Given the description of an element on the screen output the (x, y) to click on. 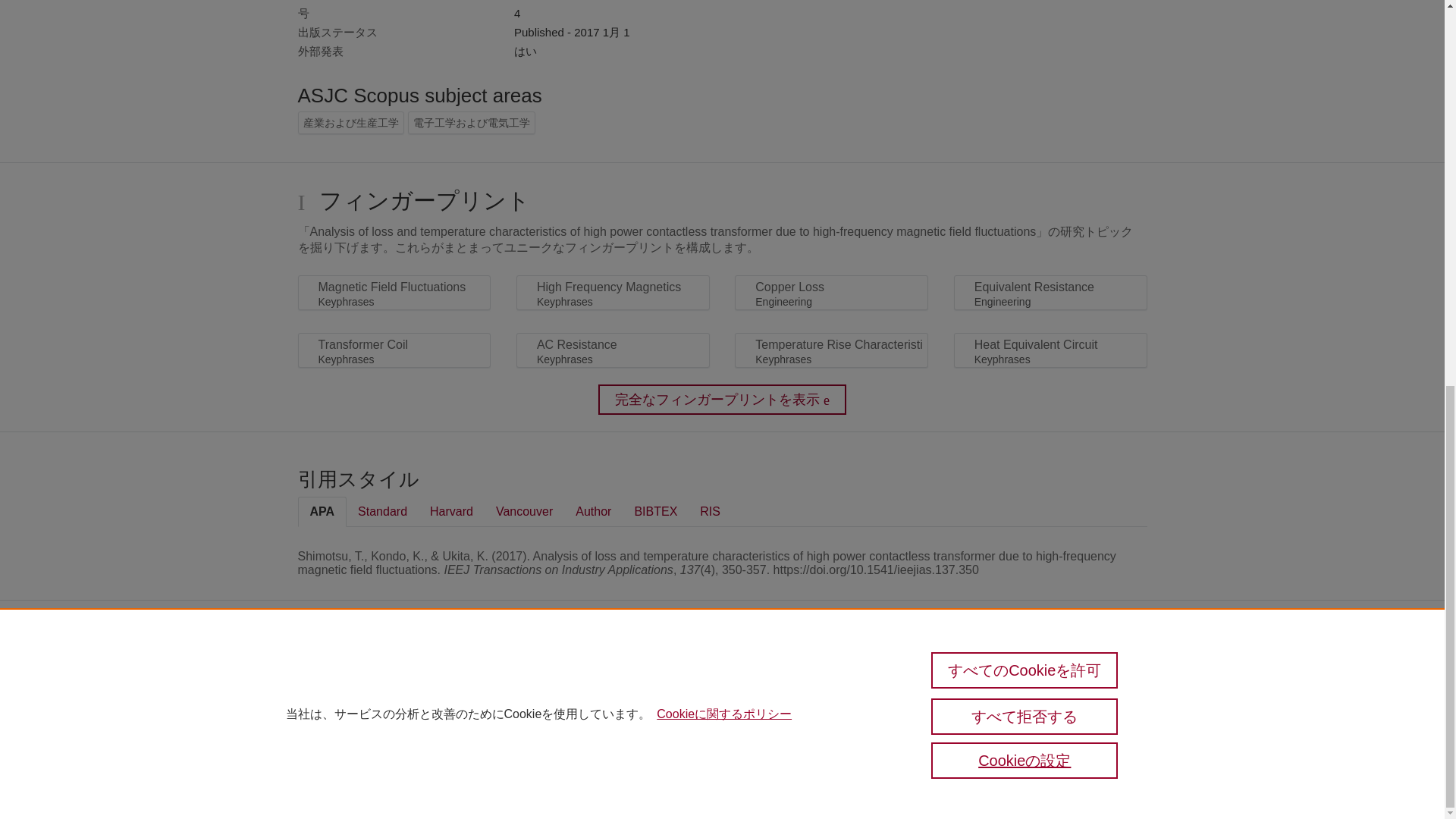
Pure (330, 676)
Elsevier B.V. (545, 699)
Scopus (362, 676)
